Given the description of an element on the screen output the (x, y) to click on. 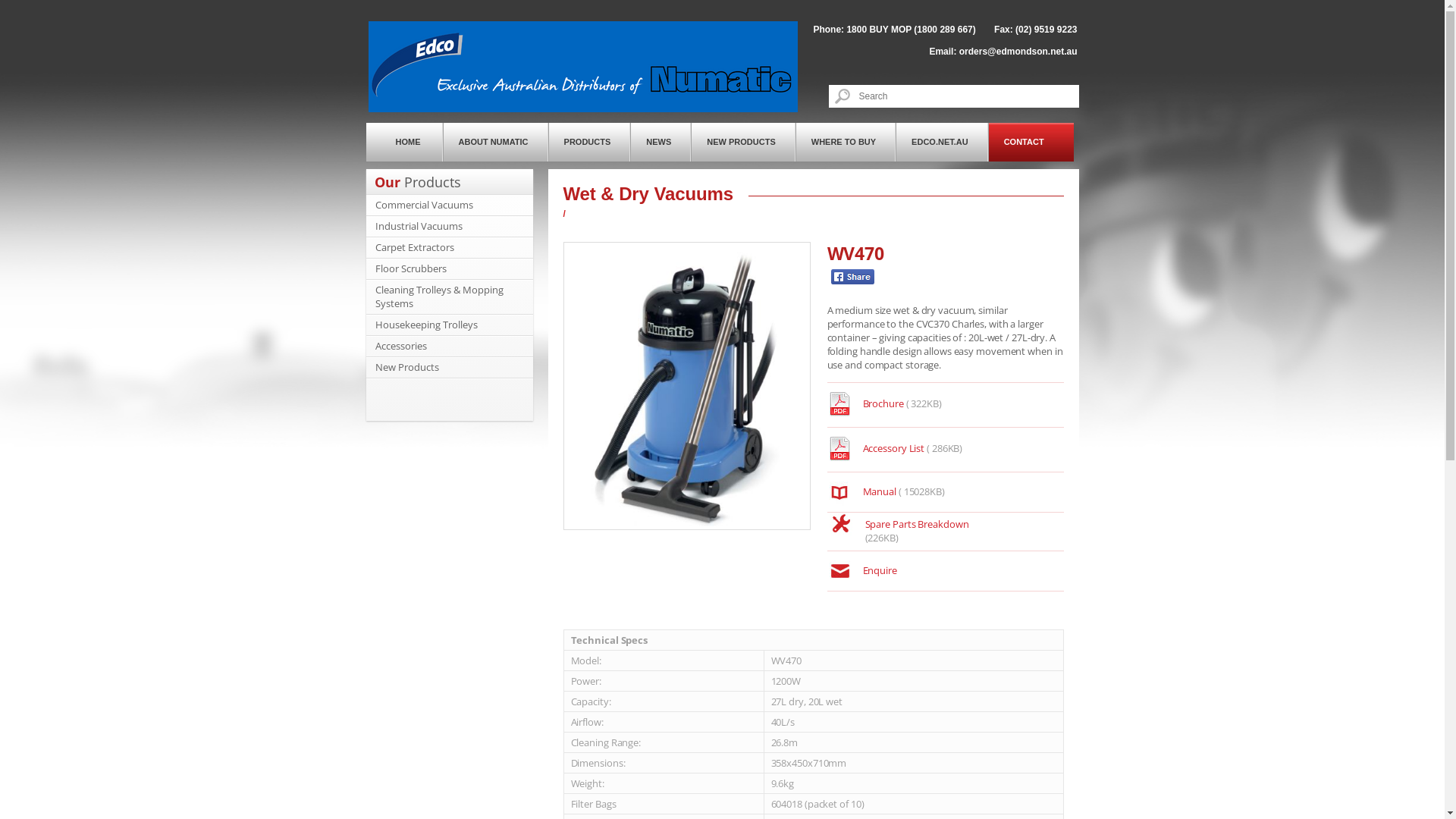
Carpet Extractors Element type: text (413, 247)
ABOUT NUMATIC Element type: text (495, 141)
PRODUCTS Element type: text (589, 141)
New Products Element type: text (406, 366)
NEWS Element type: text (660, 141)
Commercial Vacuums Element type: text (423, 204)
Cleaning Trolleys & Mopping Systems Element type: text (438, 296)
CONTACT Element type: text (1030, 141)
Floor Scrubbers Element type: text (409, 268)
EDCO.NET.AU Element type: text (941, 141)
Housekeeping Trolleys Element type: text (425, 324)
Accessories Element type: text (400, 345)
HOME Element type: text (403, 141)
Email: orders@edmondson.net.au Element type: text (1002, 51)
Industrial Vacuums Element type: text (417, 225)
WHERE TO BUY Element type: text (845, 141)
NEW PRODUCTS Element type: text (742, 141)
